Given the description of an element on the screen output the (x, y) to click on. 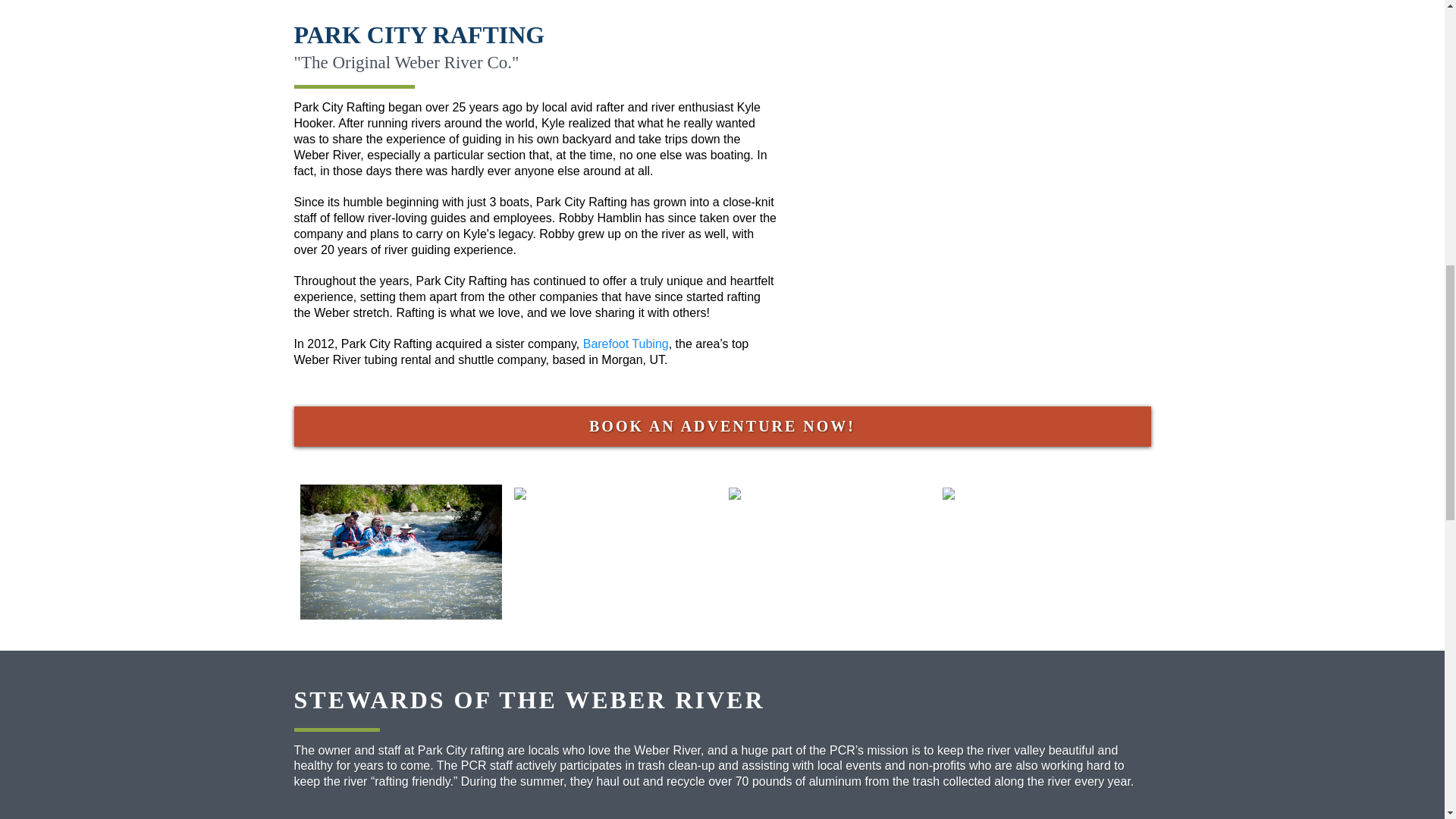
Barefoot Tubing (625, 343)
BOOK AN ADVENTURE NOW! (722, 426)
